Given the description of an element on the screen output the (x, y) to click on. 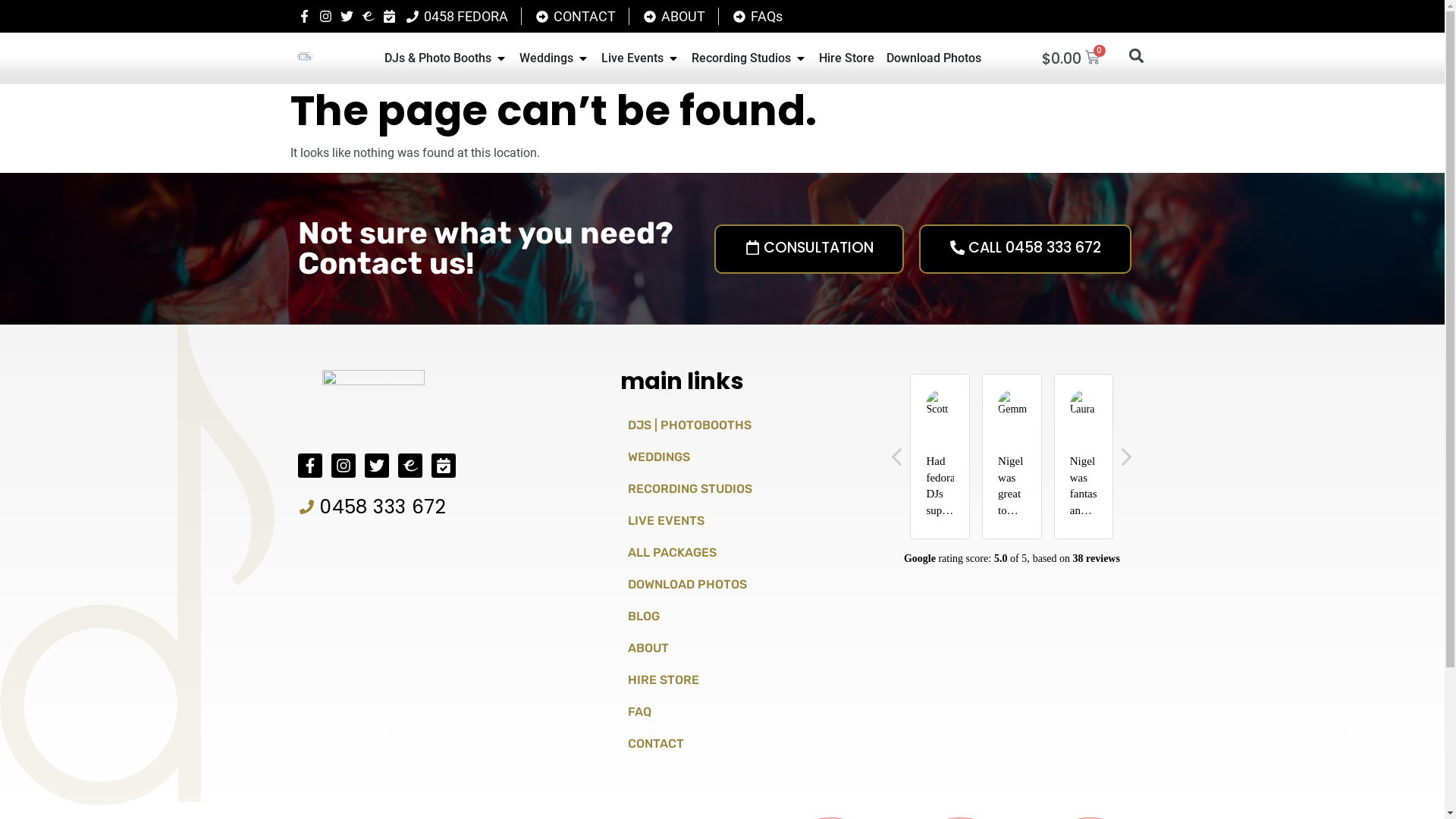
Hire Store Element type: text (846, 58)
DJs & Photo Booths Element type: text (437, 58)
$0.00
0 Element type: text (1070, 57)
LIVE EVENTS Element type: text (743, 520)
Live Events Element type: text (632, 58)
WEDDINGS Element type: text (743, 457)
ABOUT Element type: text (743, 648)
ABOUT Element type: text (672, 16)
HIRE STORE Element type: text (743, 680)
ALL PACKAGES Element type: text (743, 552)
CONTACT Element type: text (574, 16)
Download Photos Element type: text (933, 58)
CALL 0458 333 672 Element type: text (1025, 248)
FAQs Element type: text (756, 16)
0458 FEDORA Element type: text (456, 16)
0458 333 672 Element type: text (371, 506)
DJS | PHOTOBOOTHS Element type: text (743, 425)
CONSULTATION Element type: text (808, 248)
RECORDING STUDIOS Element type: text (743, 489)
FAQ Element type: text (743, 712)
DOWNLOAD PHOTOS Element type: text (743, 584)
Weddings Element type: text (546, 58)
BLOG Element type: text (743, 616)
CONTACT Element type: text (743, 743)
Recording Studios Element type: text (740, 58)
